Given the description of an element on the screen output the (x, y) to click on. 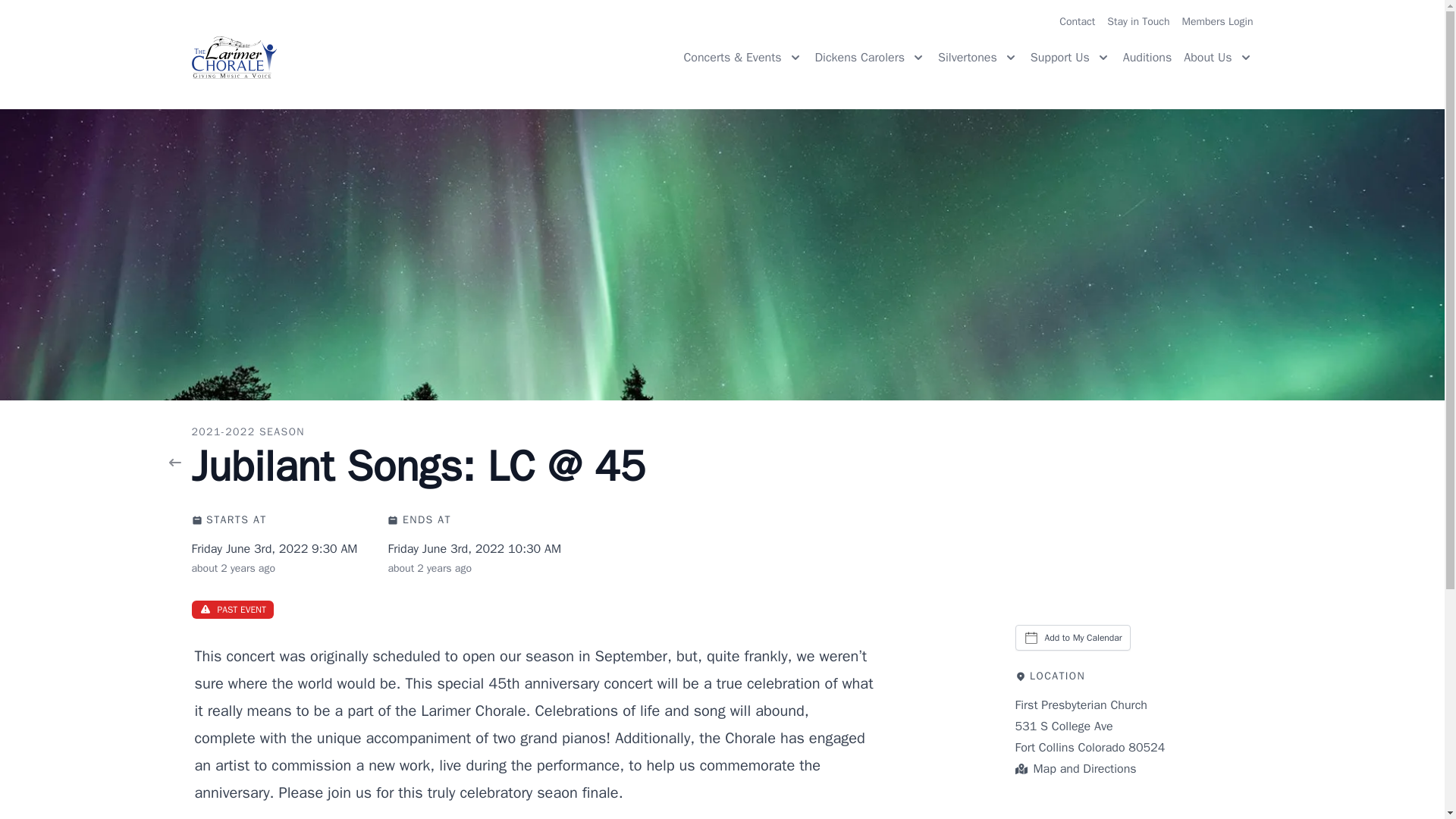
Members Login (1217, 21)
Contact (1076, 21)
Support Us (1070, 57)
Auditions (1147, 57)
Dickens Carolers (870, 57)
The Larimer Chorale (233, 57)
Stay in Touch (1137, 21)
About Us (1217, 57)
Silvertones (977, 57)
